Given the description of an element on the screen output the (x, y) to click on. 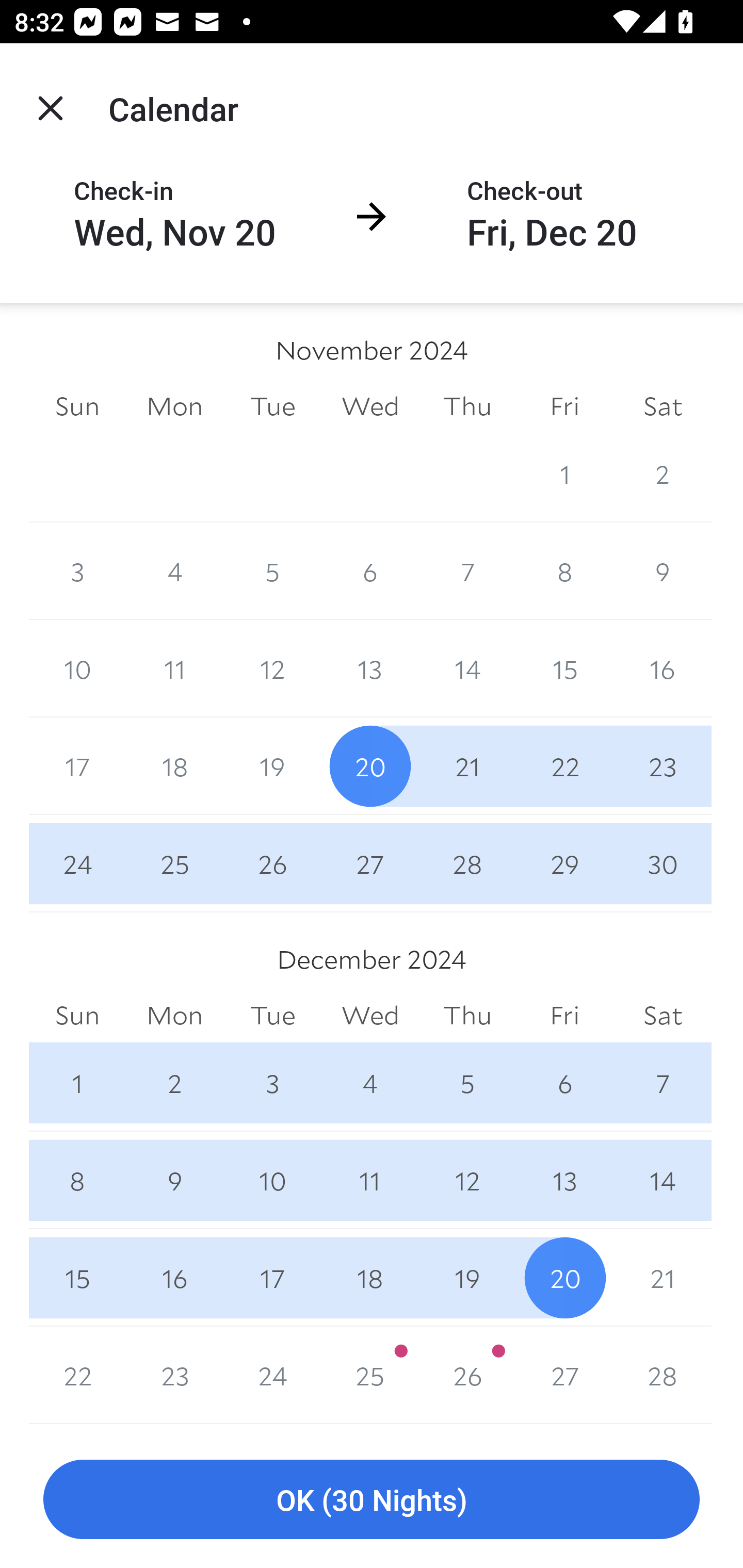
Sun (77, 405)
Mon (174, 405)
Tue (272, 405)
Wed (370, 405)
Thu (467, 405)
Fri (564, 405)
Sat (662, 405)
1 1 November 2024 (564, 473)
2 2 November 2024 (662, 473)
3 3 November 2024 (77, 570)
4 4 November 2024 (174, 570)
5 5 November 2024 (272, 570)
6 6 November 2024 (370, 570)
7 7 November 2024 (467, 570)
8 8 November 2024 (564, 570)
9 9 November 2024 (662, 570)
10 10 November 2024 (77, 668)
11 11 November 2024 (174, 668)
12 12 November 2024 (272, 668)
13 13 November 2024 (370, 668)
14 14 November 2024 (467, 668)
15 15 November 2024 (564, 668)
16 16 November 2024 (662, 668)
17 17 November 2024 (77, 766)
18 18 November 2024 (174, 766)
19 19 November 2024 (272, 766)
20 20 November 2024 (370, 766)
21 21 November 2024 (467, 766)
22 22 November 2024 (564, 766)
23 23 November 2024 (662, 766)
24 24 November 2024 (77, 863)
25 25 November 2024 (174, 863)
26 26 November 2024 (272, 863)
27 27 November 2024 (370, 863)
28 28 November 2024 (467, 863)
29 29 November 2024 (564, 863)
30 30 November 2024 (662, 863)
Sun (77, 1015)
Mon (174, 1015)
Tue (272, 1015)
Wed (370, 1015)
Thu (467, 1015)
Fri (564, 1015)
Sat (662, 1015)
1 1 December 2024 (77, 1083)
2 2 December 2024 (174, 1083)
3 3 December 2024 (272, 1083)
4 4 December 2024 (370, 1083)
5 5 December 2024 (467, 1083)
6 6 December 2024 (564, 1083)
7 7 December 2024 (662, 1083)
8 8 December 2024 (77, 1180)
9 9 December 2024 (174, 1180)
10 10 December 2024 (272, 1180)
11 11 December 2024 (370, 1180)
12 12 December 2024 (467, 1180)
13 13 December 2024 (564, 1180)
14 14 December 2024 (662, 1180)
15 15 December 2024 (77, 1277)
16 16 December 2024 (174, 1277)
17 17 December 2024 (272, 1277)
18 18 December 2024 (370, 1277)
19 19 December 2024 (467, 1277)
20 20 December 2024 (564, 1277)
21 21 December 2024 (662, 1277)
22 22 December 2024 (77, 1374)
23 23 December 2024 (174, 1374)
24 24 December 2024 (272, 1374)
25 25 December 2024 (370, 1374)
26 26 December 2024 (467, 1374)
27 27 December 2024 (564, 1374)
28 28 December 2024 (662, 1374)
OK (30 Nights) (371, 1499)
